Given the description of an element on the screen output the (x, y) to click on. 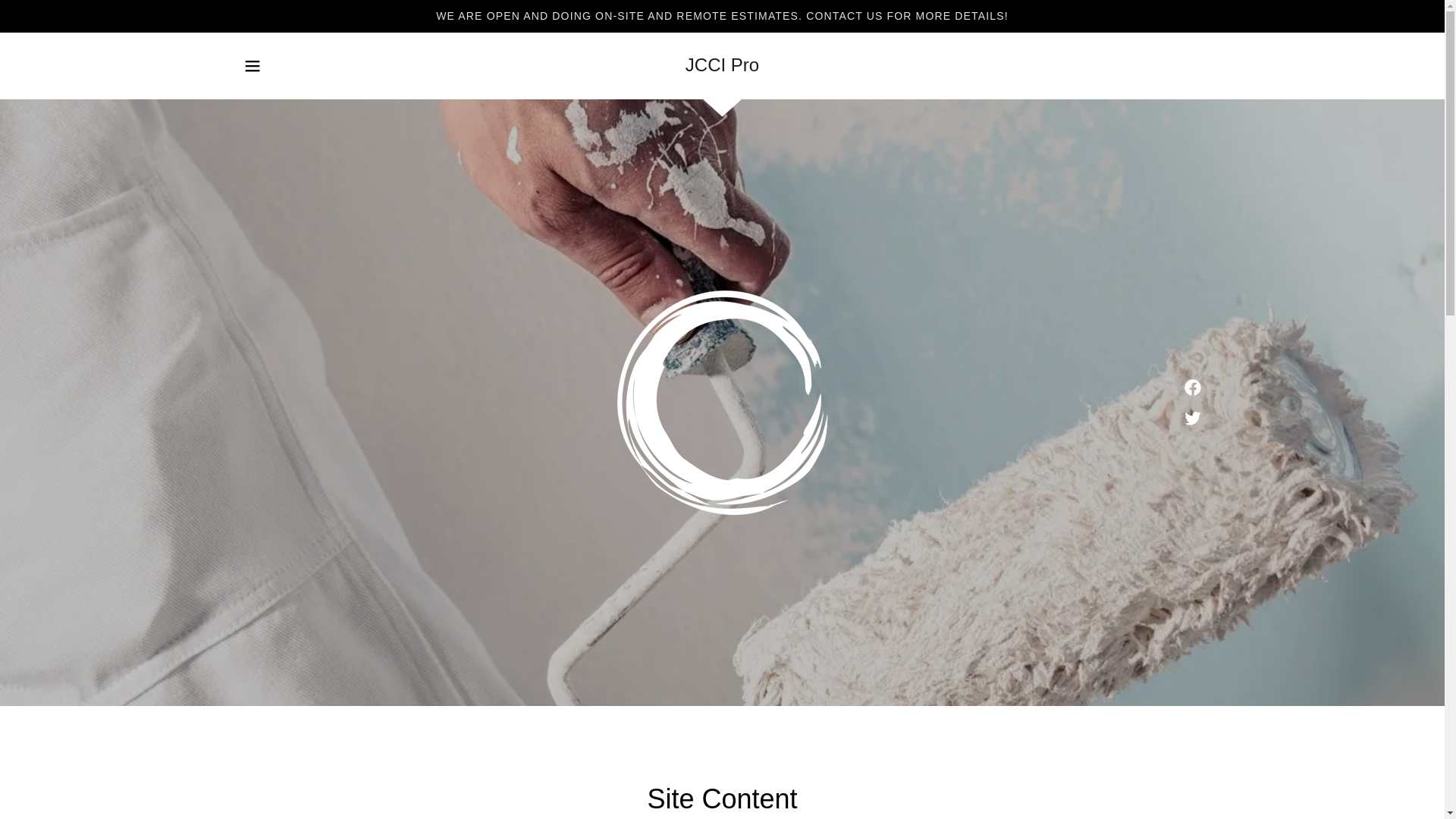
JCCI Pro (721, 65)
JCCI Pro (721, 65)
